Given the description of an element on the screen output the (x, y) to click on. 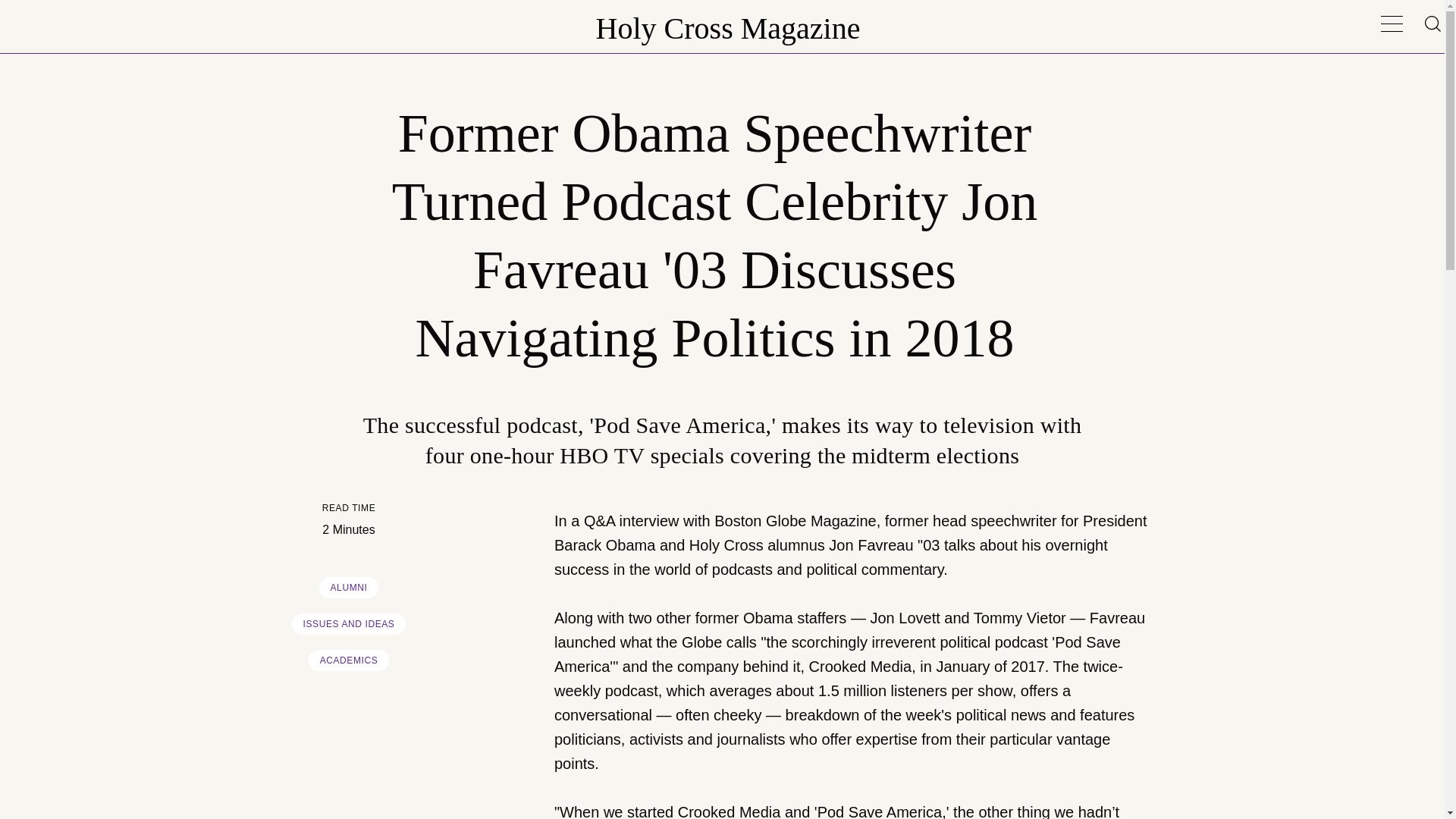
ACADEMICS (349, 660)
Menu (1391, 23)
ALUMNI (348, 587)
ISSUES AND IDEAS (348, 623)
Apply (1386, 6)
